Given the description of an element on the screen output the (x, y) to click on. 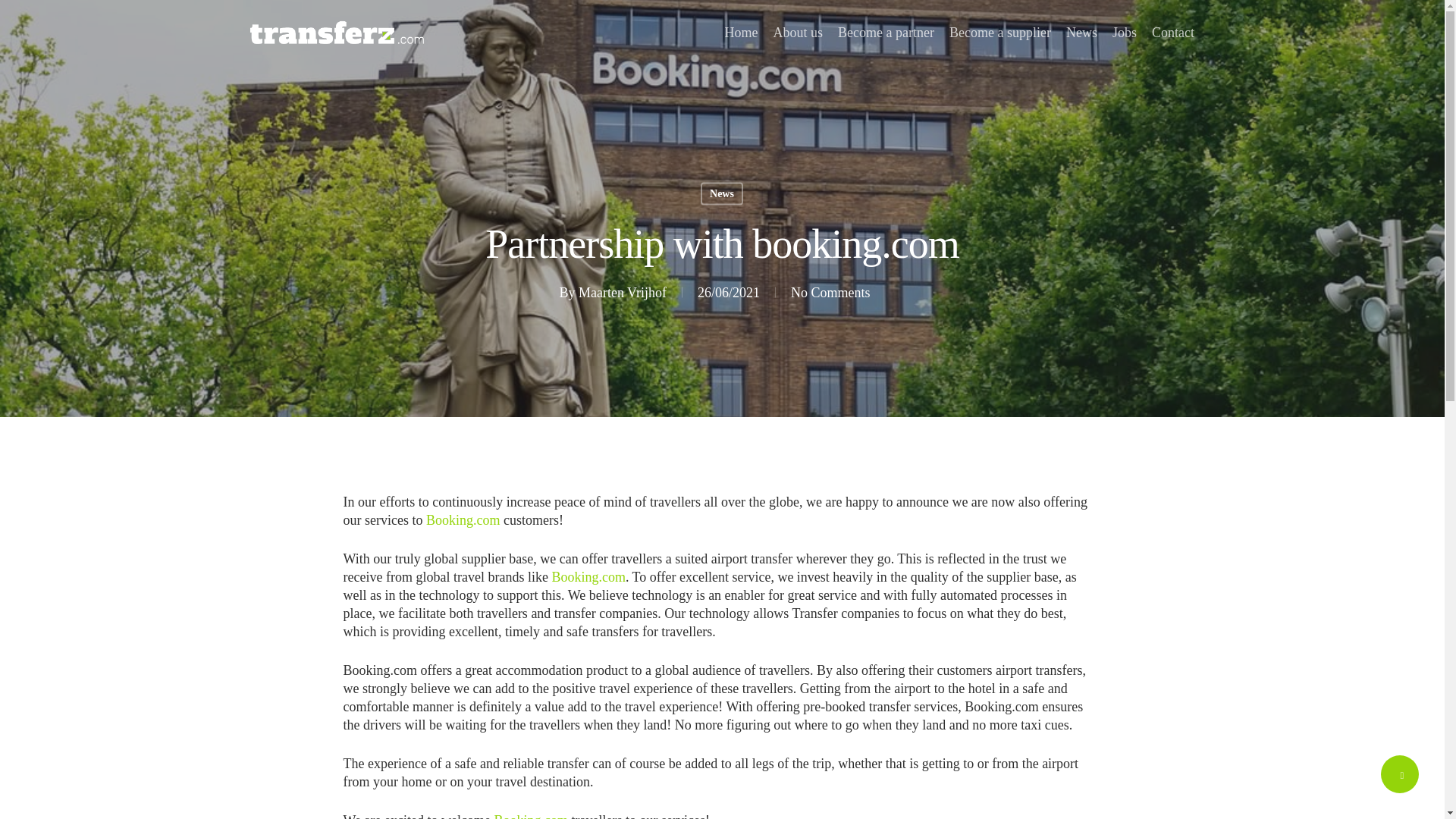
Maarten Vrijhof (622, 292)
Contact (1172, 32)
Become a partner (886, 32)
Home (741, 32)
News (721, 192)
Jobs (1124, 32)
News (1081, 32)
Booking.com (463, 519)
No Comments (830, 292)
About us (798, 32)
